Given the description of an element on the screen output the (x, y) to click on. 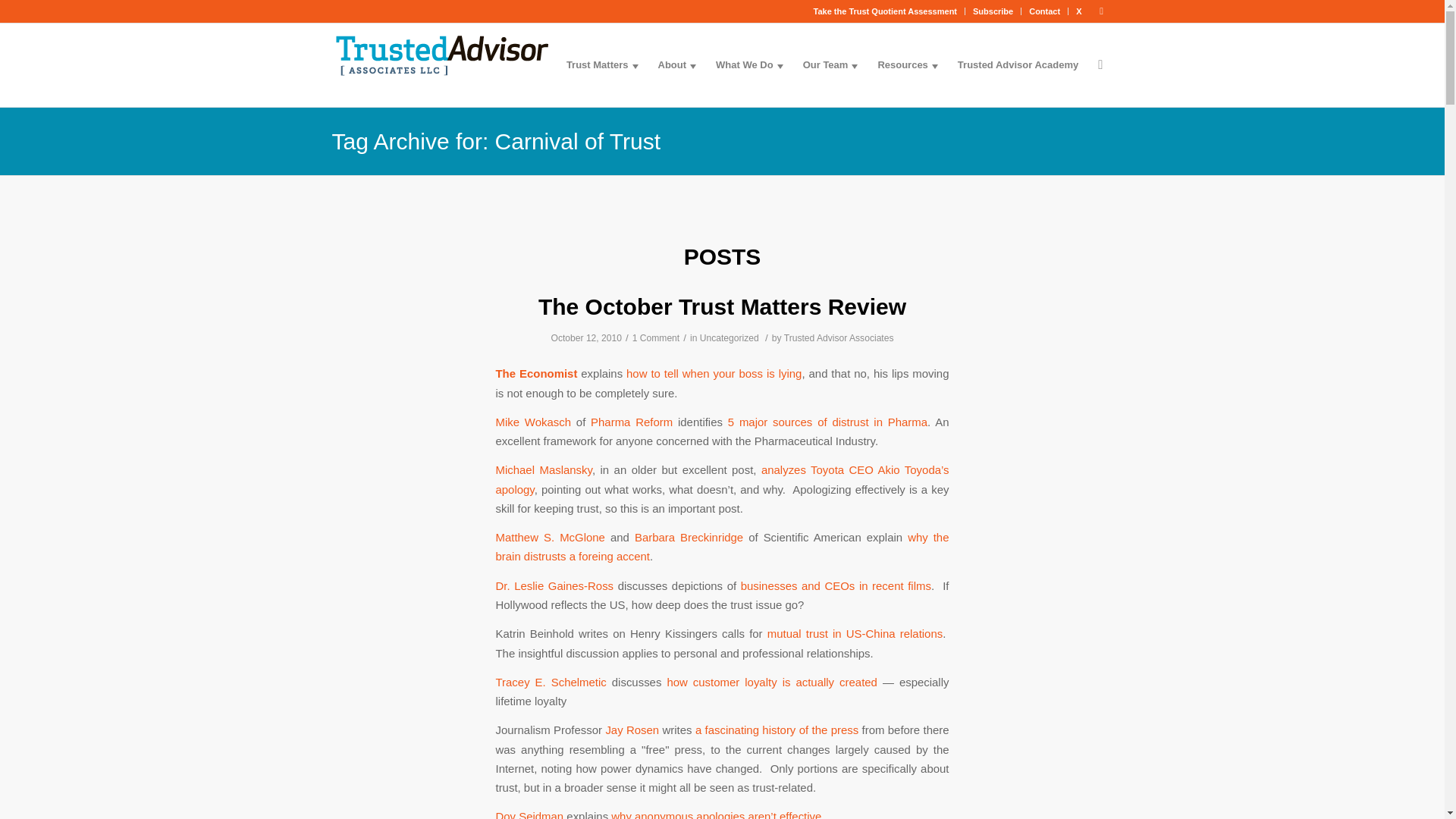
Linkedin (1101, 11)
Contact (1044, 11)
Permanent Link: The October Trust Matters Review (721, 306)
What We Do (749, 65)
Posts by Trusted Advisor Associates (838, 337)
Trust Matters (601, 65)
Our Team (830, 65)
Take the Trust Quotient Assessment (885, 11)
Permanent Link: Tag Archive for: Carnival of Trust (496, 140)
Subscribe (992, 11)
